Given the description of an element on the screen output the (x, y) to click on. 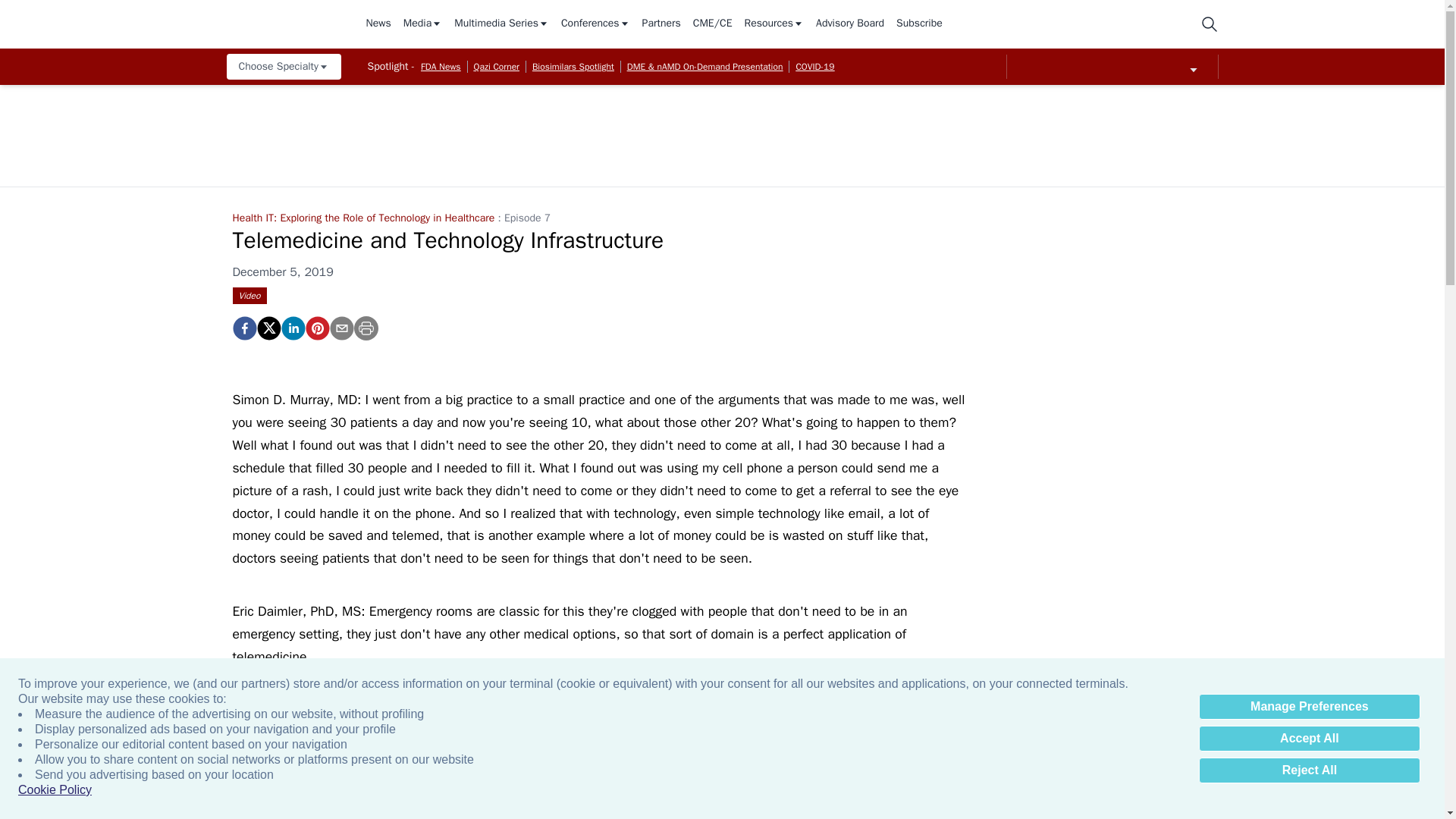
Multimedia Series (501, 23)
Subscribe (919, 23)
Partners (661, 23)
Telemedicine and Technology Infrastructure (243, 328)
Conferences (595, 23)
News (377, 23)
Choose Specialty (282, 66)
Reject All (1309, 769)
Telemedicine and Technology Infrastructure (316, 328)
Manage Preferences (1309, 706)
Advisory Board (849, 23)
Accept All (1309, 738)
Cookie Policy (54, 789)
Resources (773, 23)
Media (422, 23)
